Given the description of an element on the screen output the (x, y) to click on. 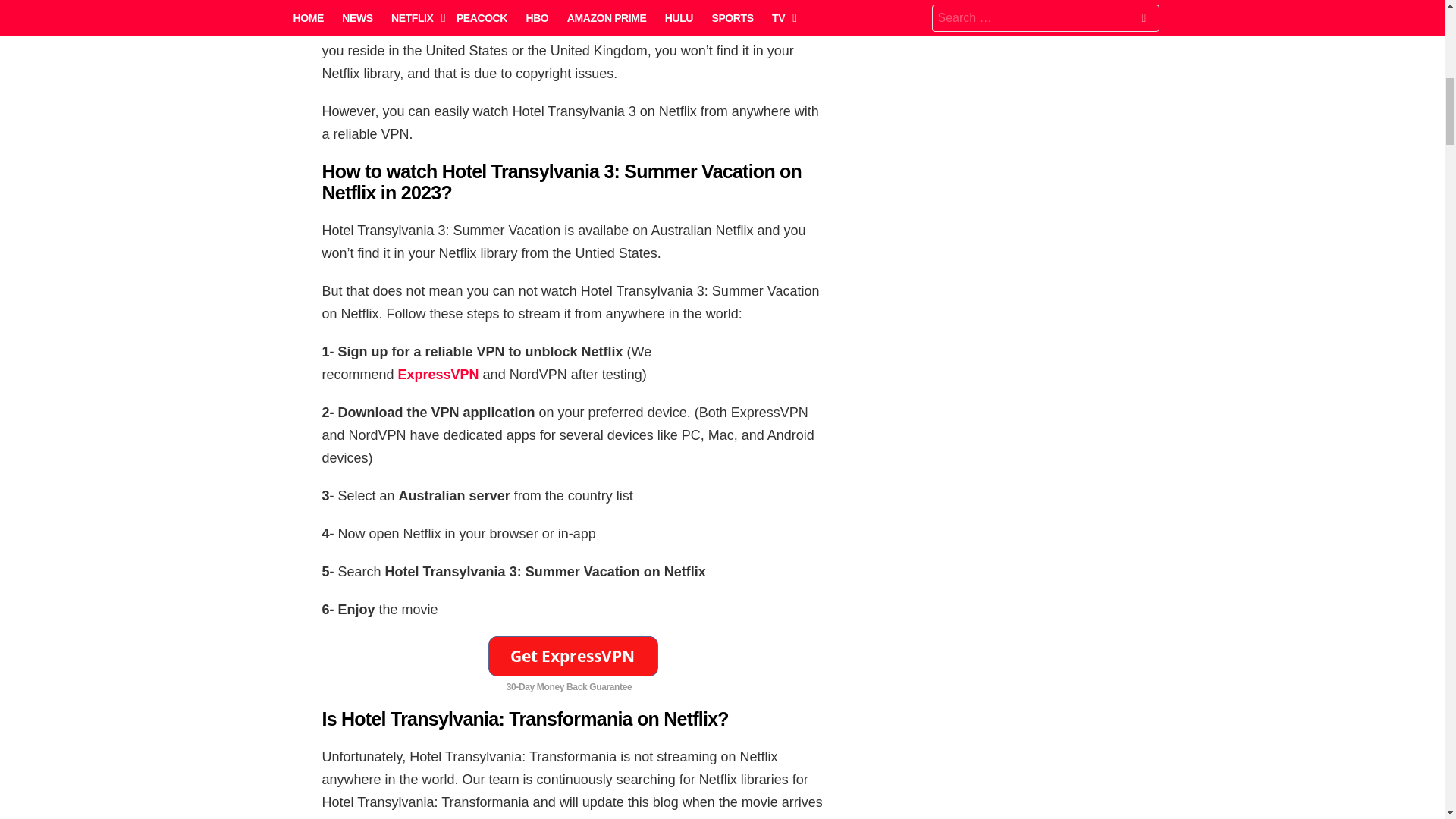
ExpressVPN (438, 374)
